Given the description of an element on the screen output the (x, y) to click on. 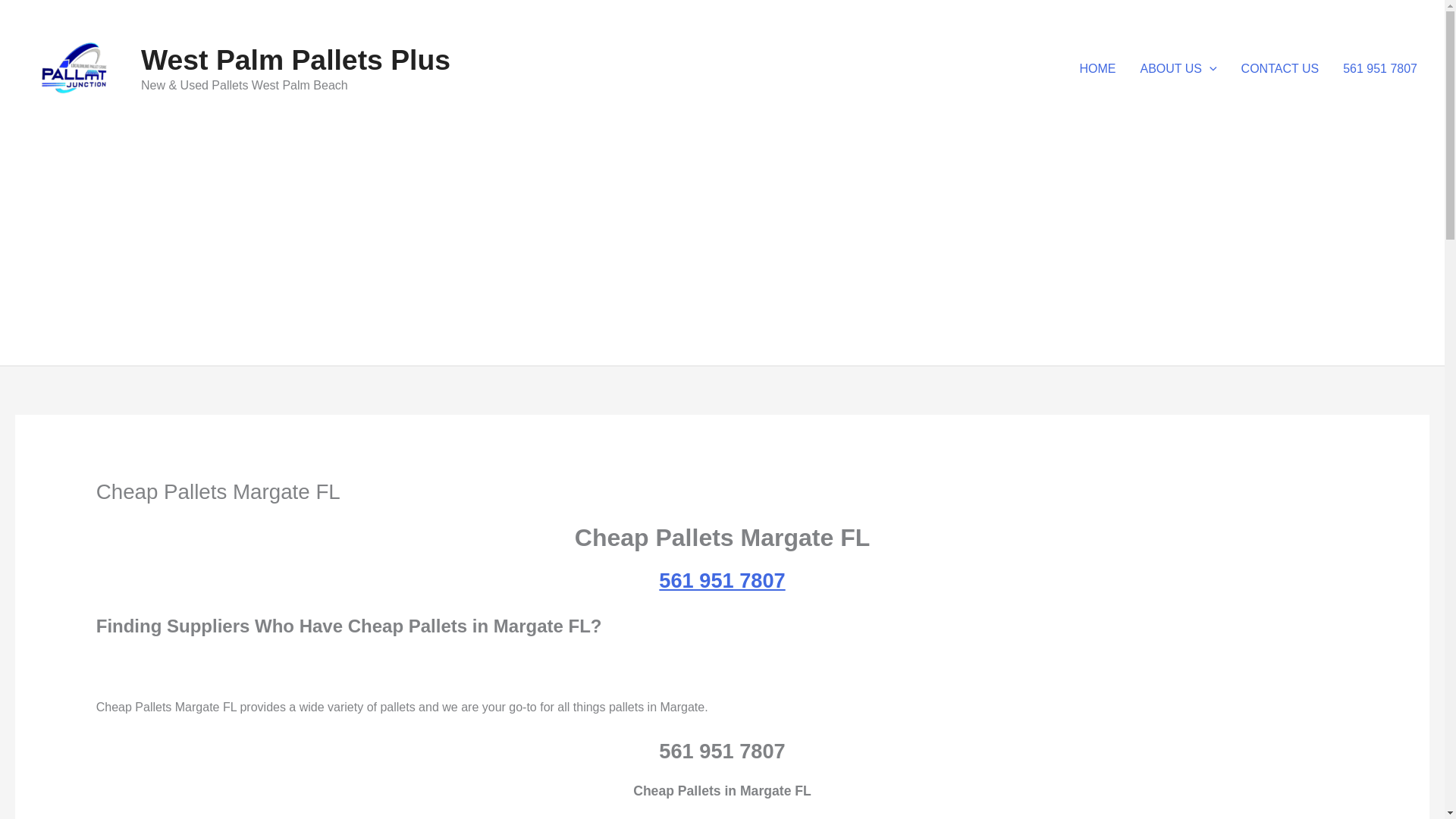
CONTACT US (1280, 68)
HOME (1097, 68)
ABOUT US (1178, 68)
561 951 7807 (1379, 68)
West Palm Pallets Plus (295, 60)
